Given the description of an element on the screen output the (x, y) to click on. 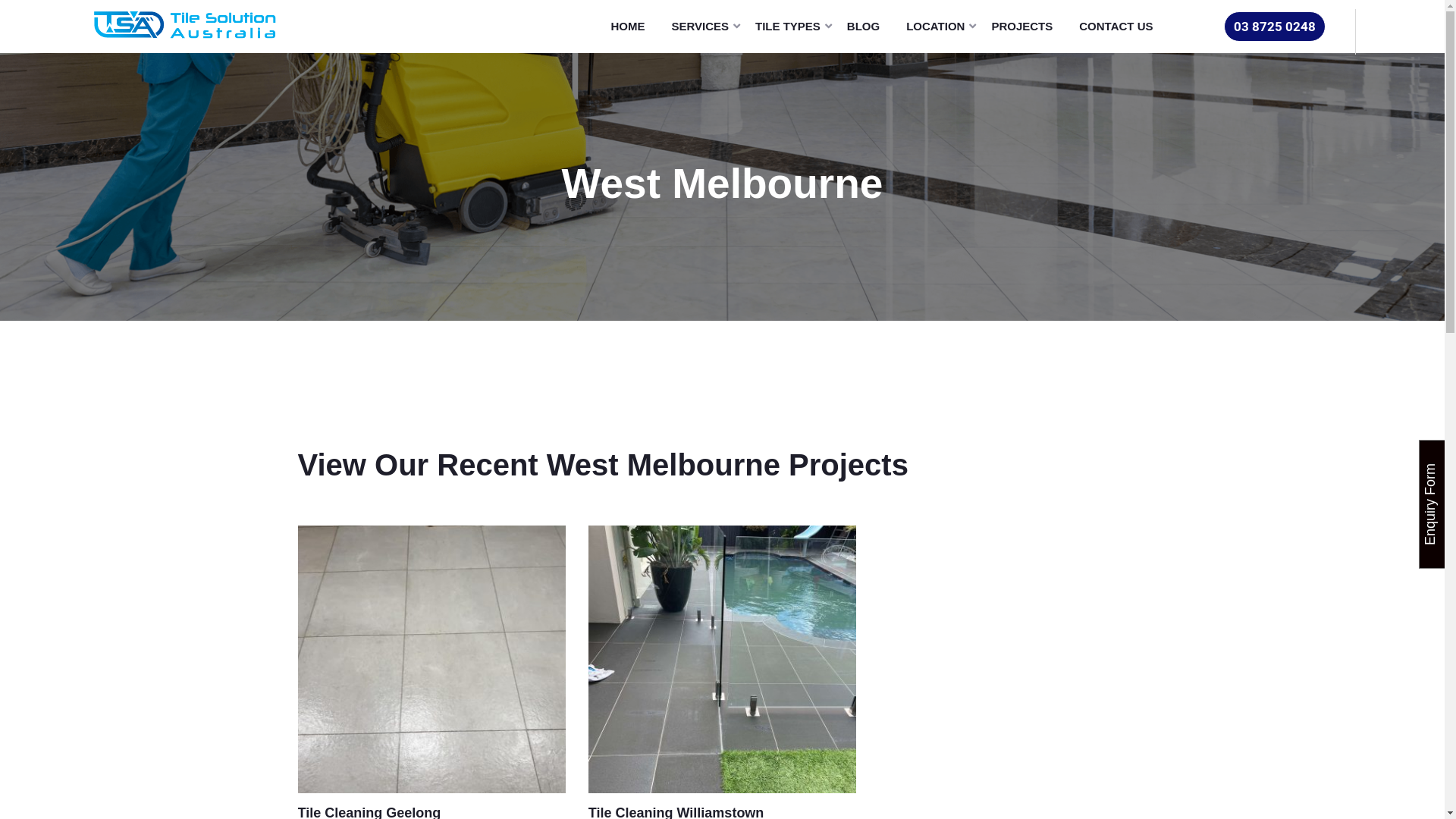
BLOG Element type: text (869, 26)
PROJECTS Element type: text (1027, 26)
HOME Element type: text (632, 26)
TILE TYPES Element type: text (793, 26)
03 8725 0248 Element type: text (1274, 26)
CONTACT US Element type: text (1121, 26)
LOCATION Element type: text (940, 26)
SERVICES Element type: text (705, 26)
